Given the description of an element on the screen output the (x, y) to click on. 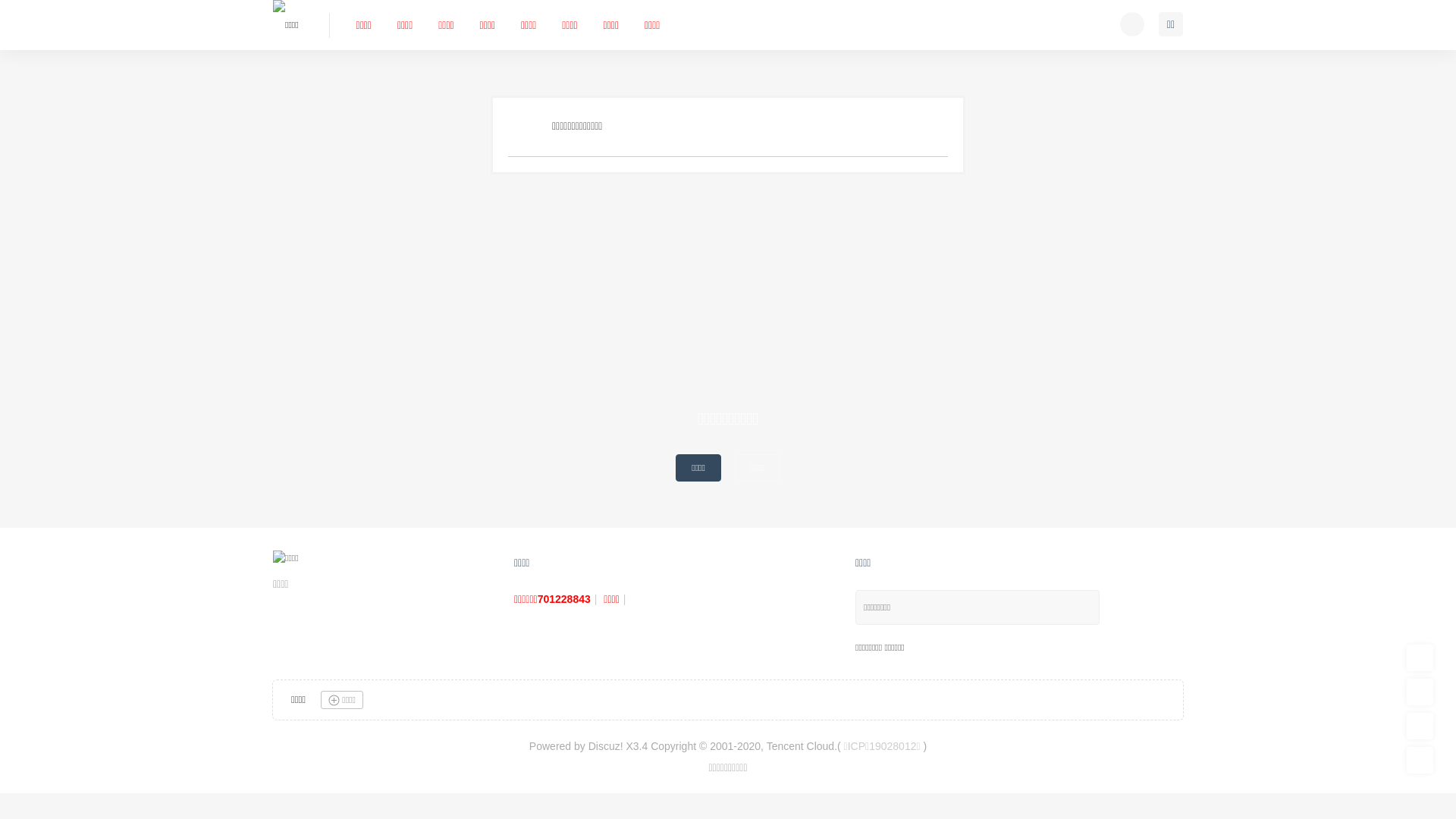
   Element type: text (1132, 24)
